Given the description of an element on the screen output the (x, y) to click on. 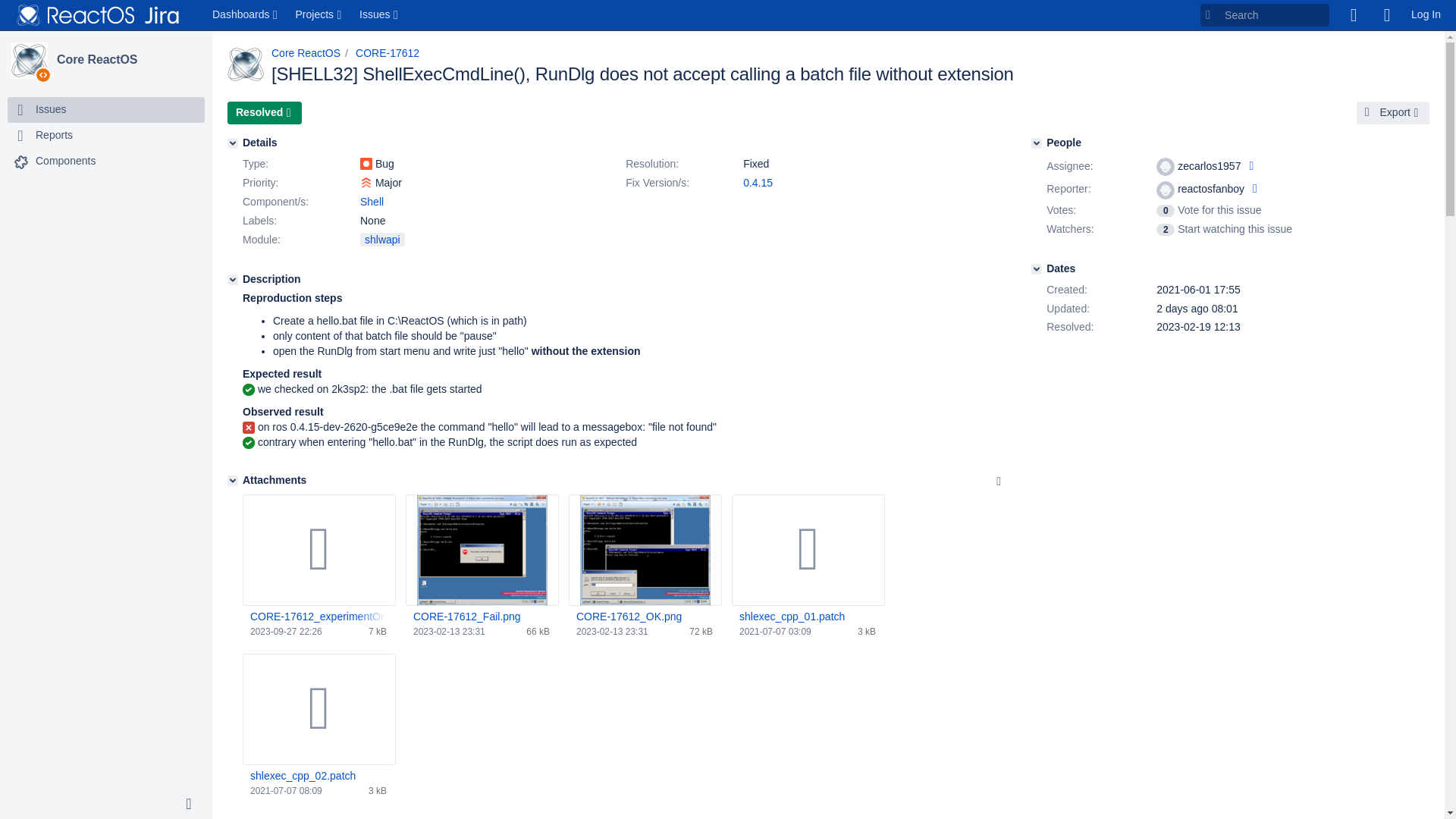
0.4.15 (757, 182)
Shell (371, 201)
Search for issues and view recent issues (379, 15)
Log In (1425, 15)
Help (1386, 15)
Resolved (264, 112)
Components (65, 160)
Core ReactOS (127, 60)
Dashboards (246, 15)
Help (1386, 15)
Options (998, 481)
Projects (320, 15)
Export this issue in another format (1392, 112)
View and manage your dashboards (246, 15)
Issues (379, 15)
